Given the description of an element on the screen output the (x, y) to click on. 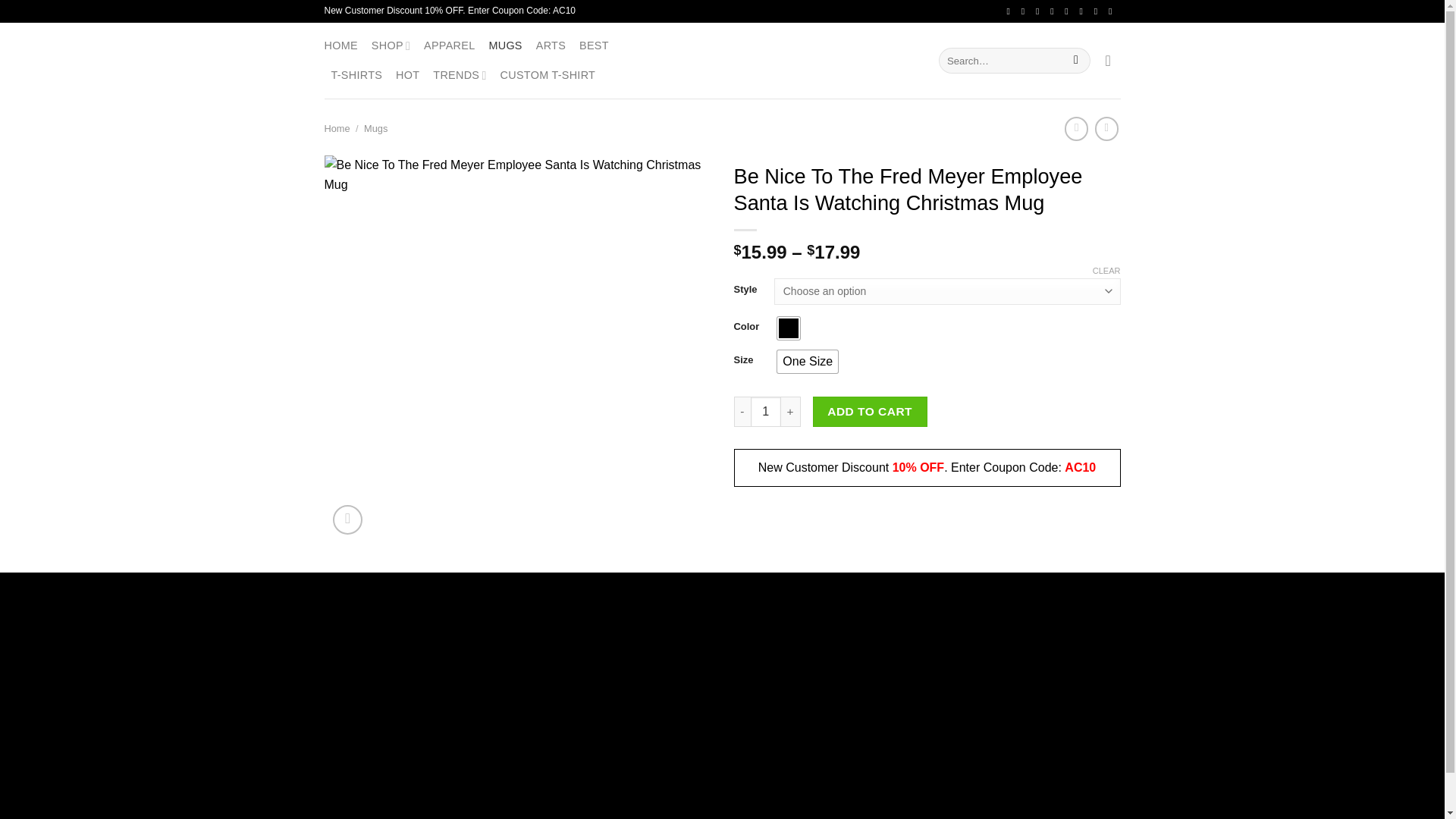
HOME (341, 45)
SHOP (390, 45)
1 (765, 411)
Alberto Cerriteno - T-Shirts, Hoodies, Mugs, Arts (721, 60)
